Given the description of an element on the screen output the (x, y) to click on. 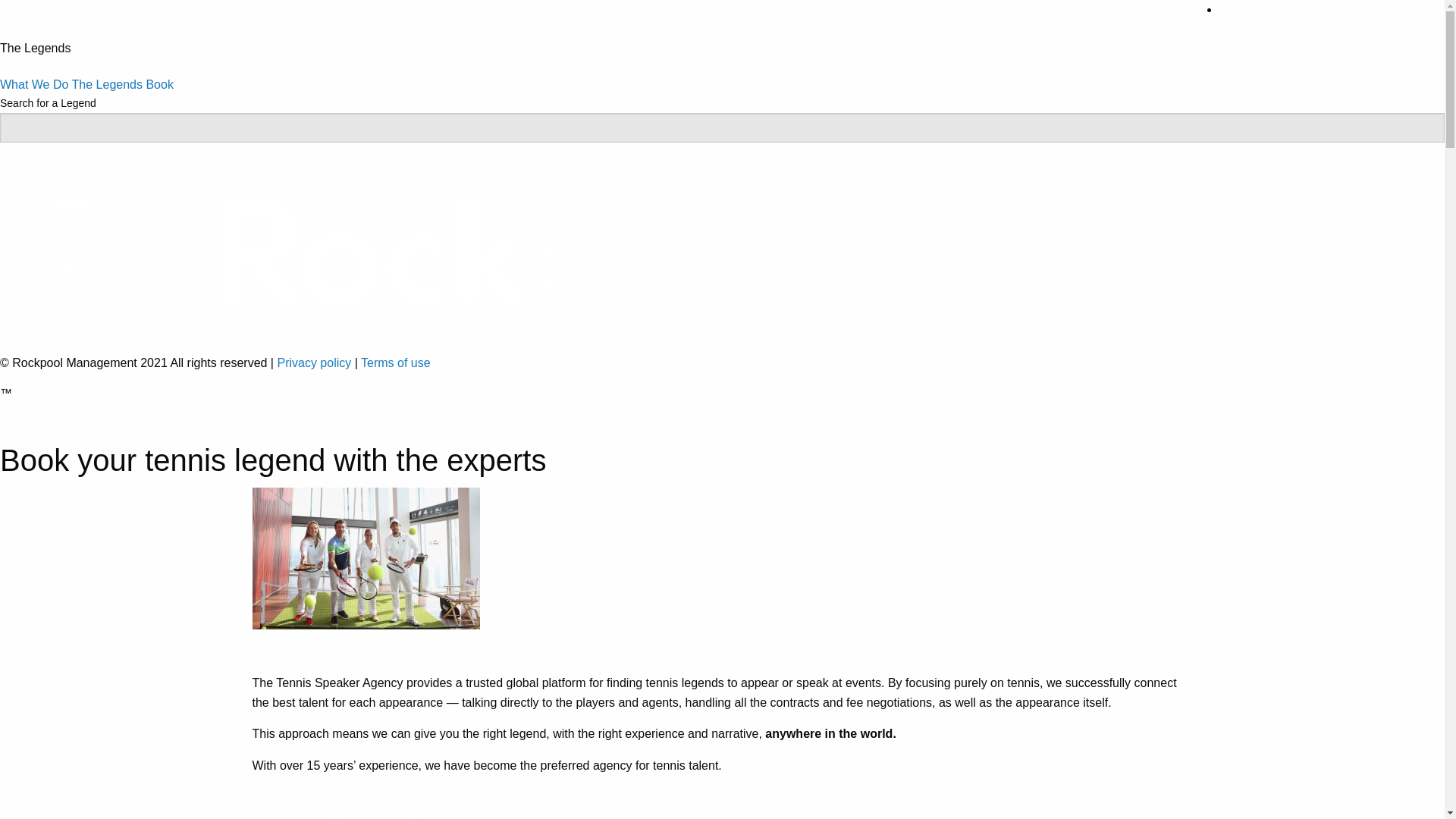
The Legends (106, 83)
Book (159, 83)
What We Do (34, 83)
The Tennis Speaker Agency (151, 18)
Book (159, 83)
The Legends (106, 83)
Terms of use (395, 362)
What We Do (34, 83)
Visit Rockpool Management (417, 252)
Privacy policy (313, 362)
Scroll down to learn more... (8, 420)
